Given the description of an element on the screen output the (x, y) to click on. 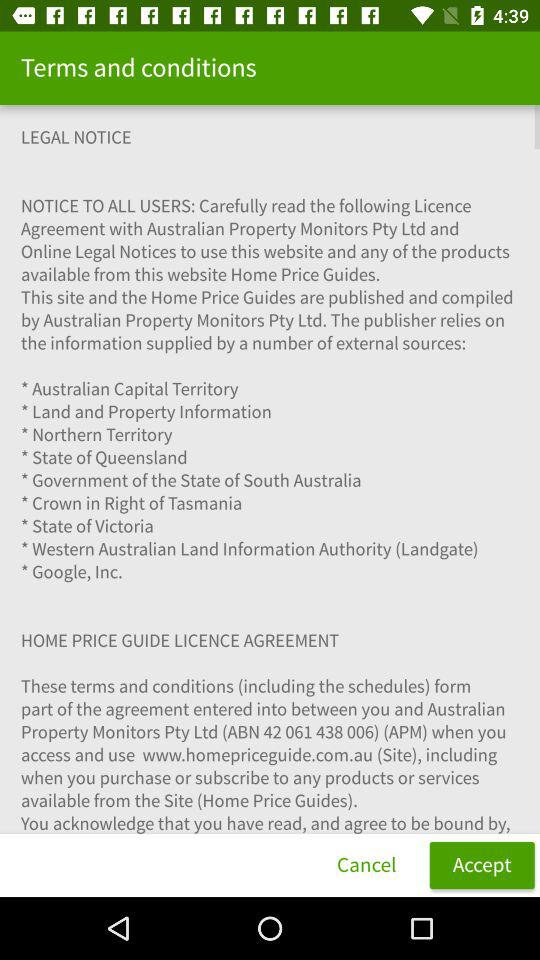
turn off item to the right of cancel item (482, 864)
